Given the description of an element on the screen output the (x, y) to click on. 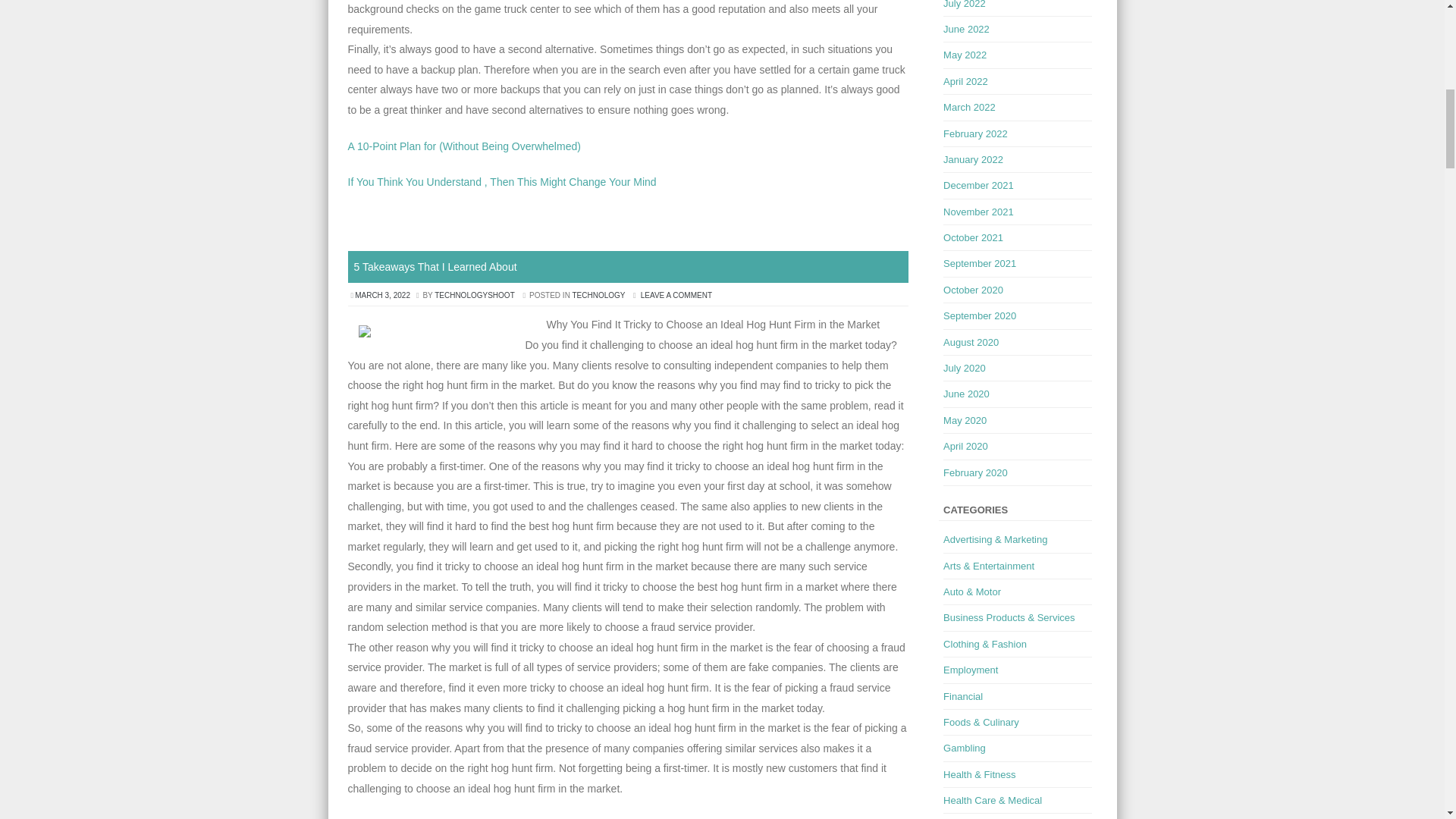
Permalink to 5 Takeaways That I Learned About (434, 266)
TECHNOLOGYSHOOT (474, 295)
View all posts by technologyshoot (474, 295)
LEAVE A COMMENT (675, 295)
3:22 pm (382, 295)
TECHNOLOGY (598, 295)
MARCH 3, 2022 (382, 295)
5 Takeaways That I Learned About (434, 266)
